Given the description of an element on the screen output the (x, y) to click on. 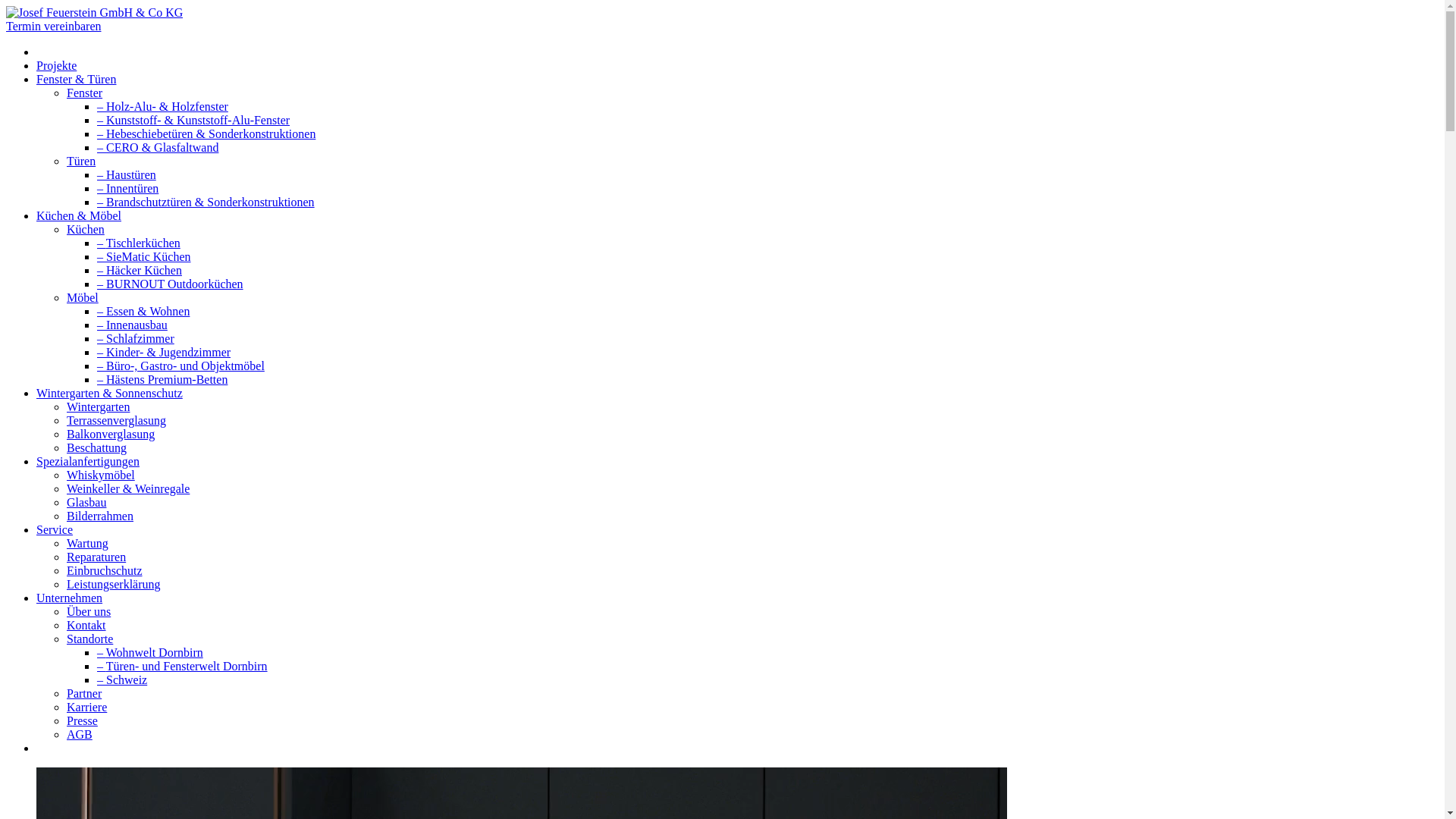
AGB Element type: text (79, 734)
Bilderrahmen Element type: text (99, 515)
Wartung Element type: text (87, 542)
Standorte Element type: text (89, 638)
Termin vereinbaren Element type: text (53, 25)
Wintergarten & Sonnenschutz Element type: text (109, 392)
Spezialanfertigungen Element type: text (87, 461)
Partner Element type: text (83, 693)
Glasbau Element type: text (86, 501)
Projekte Element type: text (56, 65)
Einbruchschutz Element type: text (104, 570)
Unternehmen Element type: text (69, 597)
Wintergarten Element type: text (97, 406)
Balkonverglasung Element type: text (110, 433)
Karriere Element type: text (86, 706)
Josef Feuerstein GmbH & Co KG Element type: hover (94, 12)
Kontakt Element type: text (86, 624)
Reparaturen Element type: text (95, 556)
Presse Element type: text (81, 720)
Service Element type: text (54, 529)
Weinkeller & Weinregale Element type: text (127, 488)
Beschattung Element type: text (96, 447)
Fenster Element type: text (84, 92)
Terrassenverglasung Element type: text (116, 420)
